Given the description of an element on the screen output the (x, y) to click on. 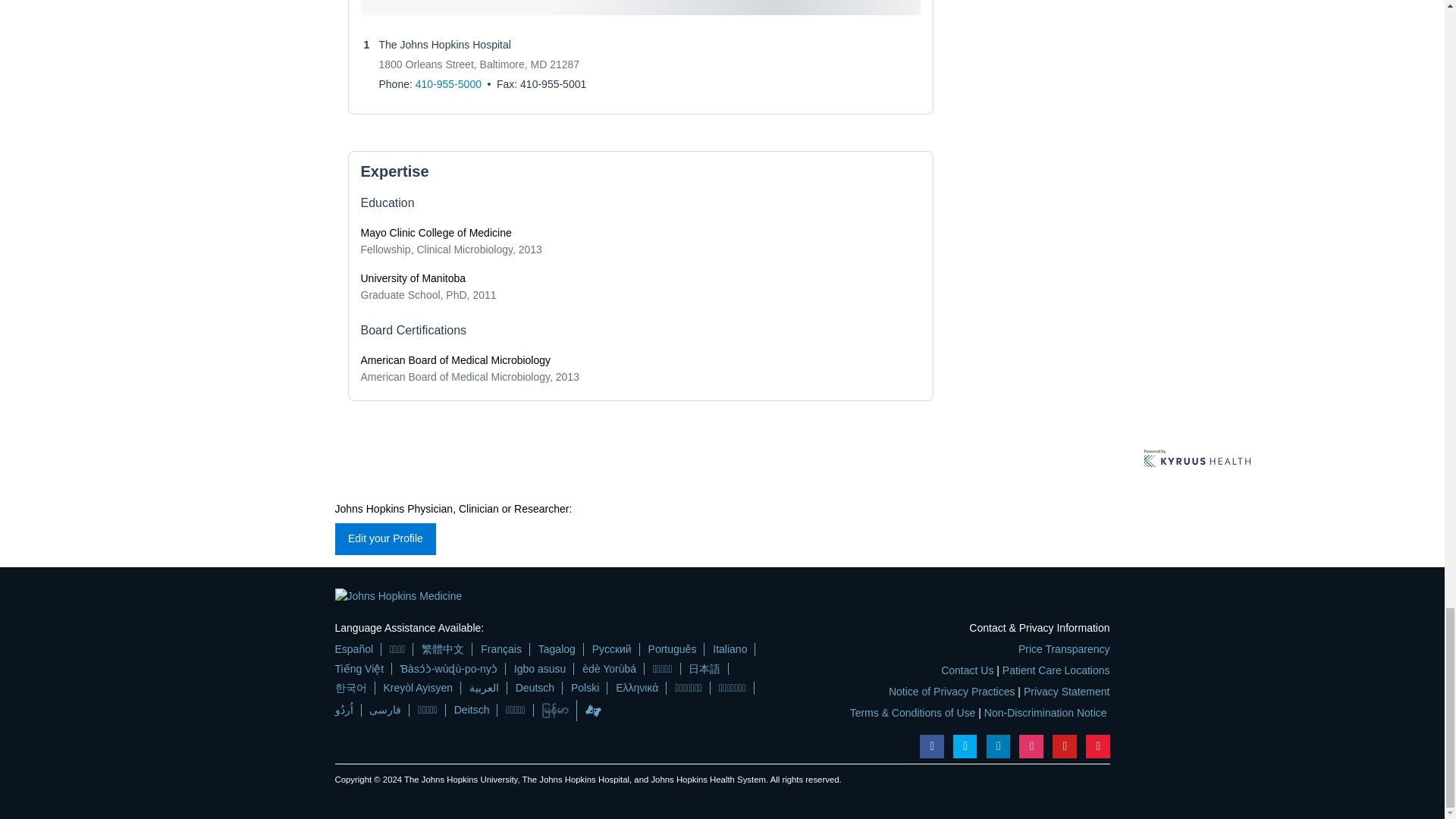
Igbo asusu (539, 668)
Deutsch (534, 687)
Tagalog (556, 649)
Price Transparency (1063, 649)
410-955-5000 (447, 83)
Polski (584, 687)
Italiano (729, 649)
Deitsch (471, 709)
Edit your Profile (385, 539)
